Given the description of an element on the screen output the (x, y) to click on. 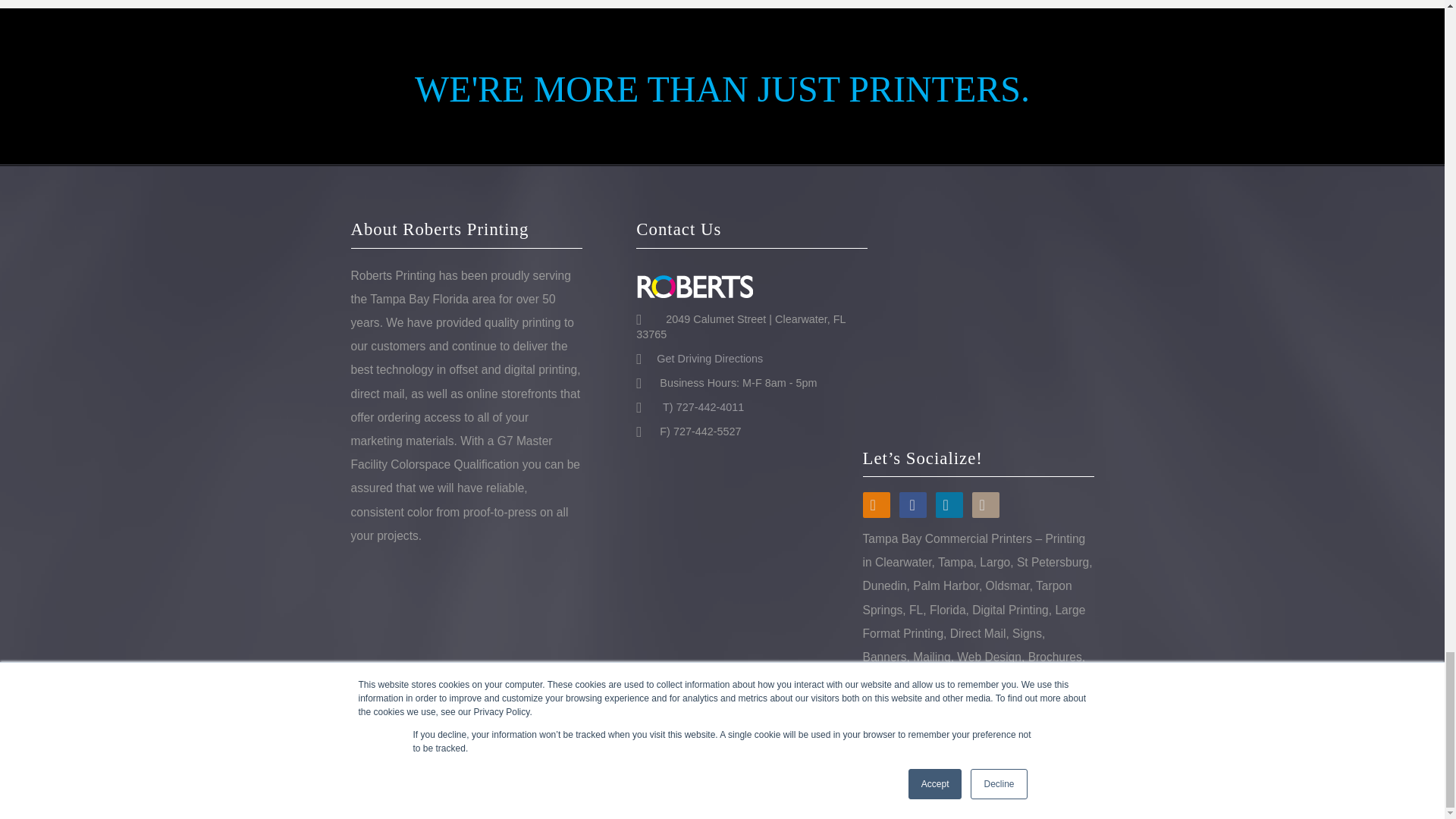
LinkedIn (949, 504)
    Get Driving Directions (703, 358)
Facebook (912, 504)
Instagram (985, 504)
RSS Feed (876, 504)
Facebook (912, 504)
Home (812, 772)
Contact Us (991, 772)
Printing Services (922, 772)
Instagram (985, 504)
Privacy Policy (1055, 772)
RSS (876, 504)
About Us (856, 772)
LinkedIn (949, 504)
